Given the description of an element on the screen output the (x, y) to click on. 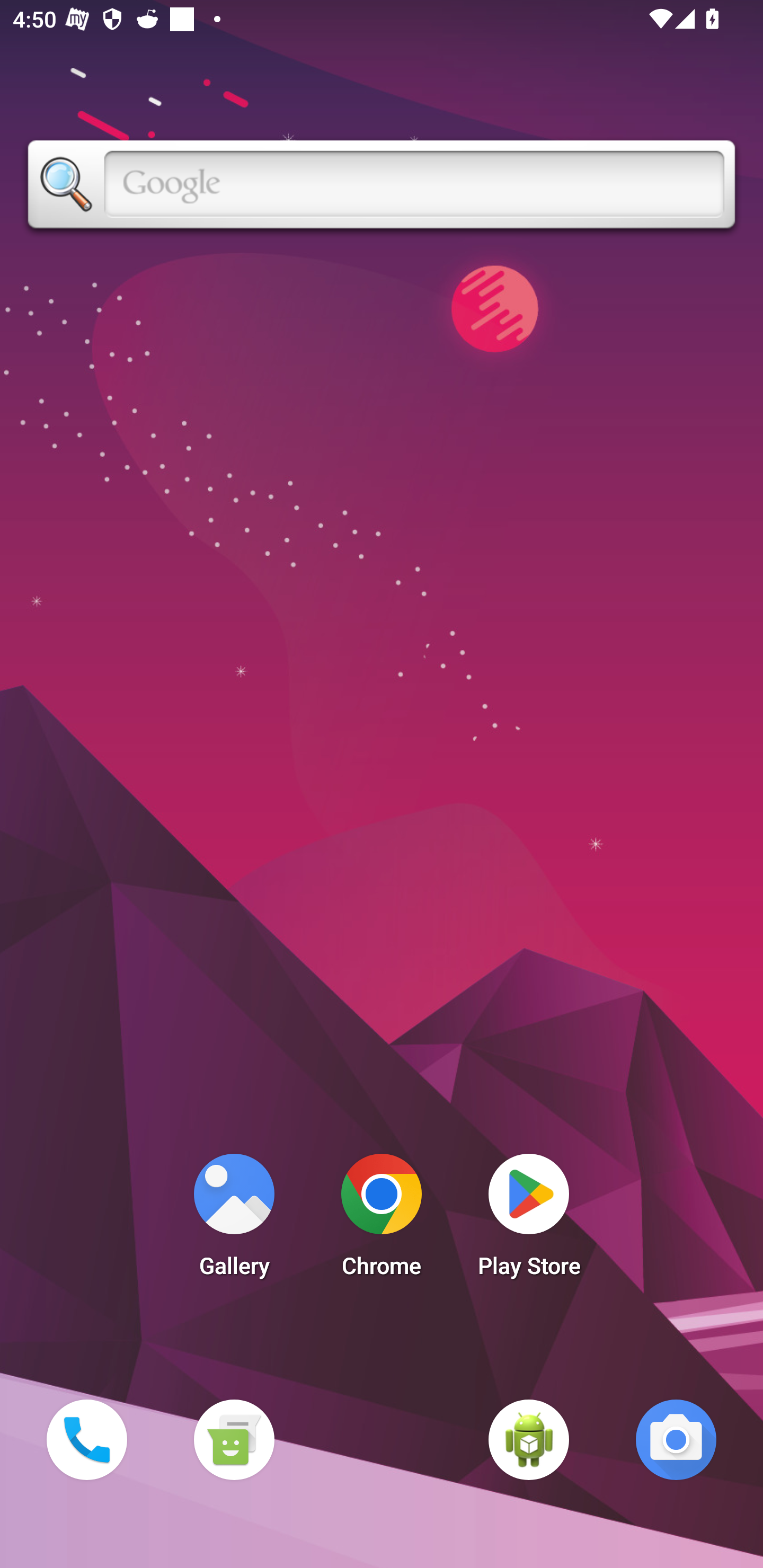
Gallery (233, 1220)
Chrome (381, 1220)
Play Store (528, 1220)
Phone (86, 1439)
Messaging (233, 1439)
WebView Browser Tester (528, 1439)
Camera (676, 1439)
